Given the description of an element on the screen output the (x, y) to click on. 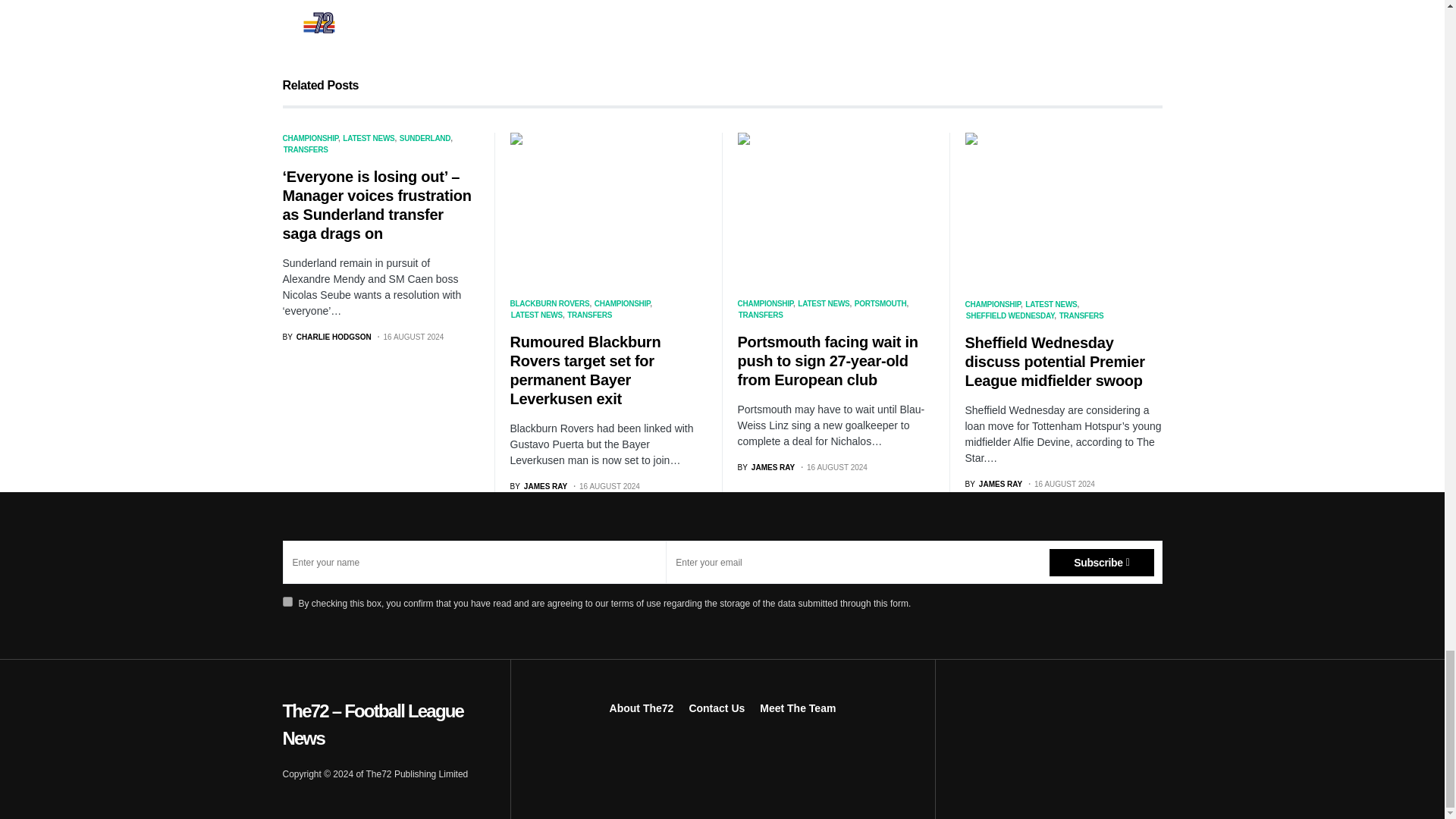
View all posts by James Ray (401, 20)
View all posts by James Ray (700, 20)
on (287, 601)
View all posts by Charlie Hodgson (326, 337)
View all posts by James Ray (765, 467)
View all posts by James Ray (538, 486)
View all posts by James Ray (992, 483)
